Given the description of an element on the screen output the (x, y) to click on. 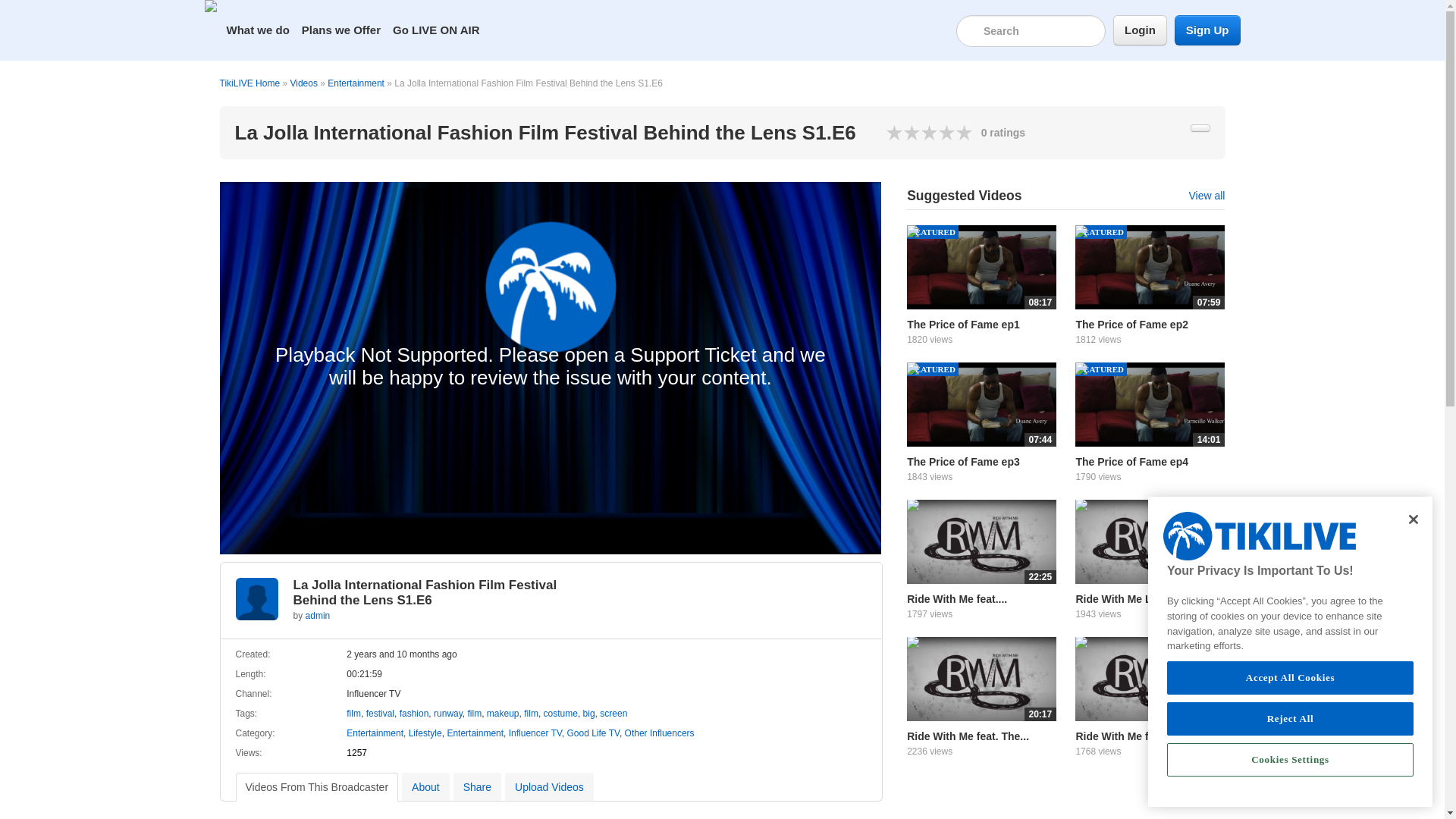
0.00 out of 5 (930, 132)
Sign Up (1207, 30)
Login (1140, 30)
4 (921, 132)
1 (895, 132)
2 (903, 132)
Plans we Offer (341, 30)
Go LIVE ON AIR (435, 30)
3 (912, 132)
What we do (257, 30)
Entertainment (355, 82)
Entertainment (355, 82)
Videos (303, 82)
TikiLIVE Home (250, 82)
